Given the description of an element on the screen output the (x, y) to click on. 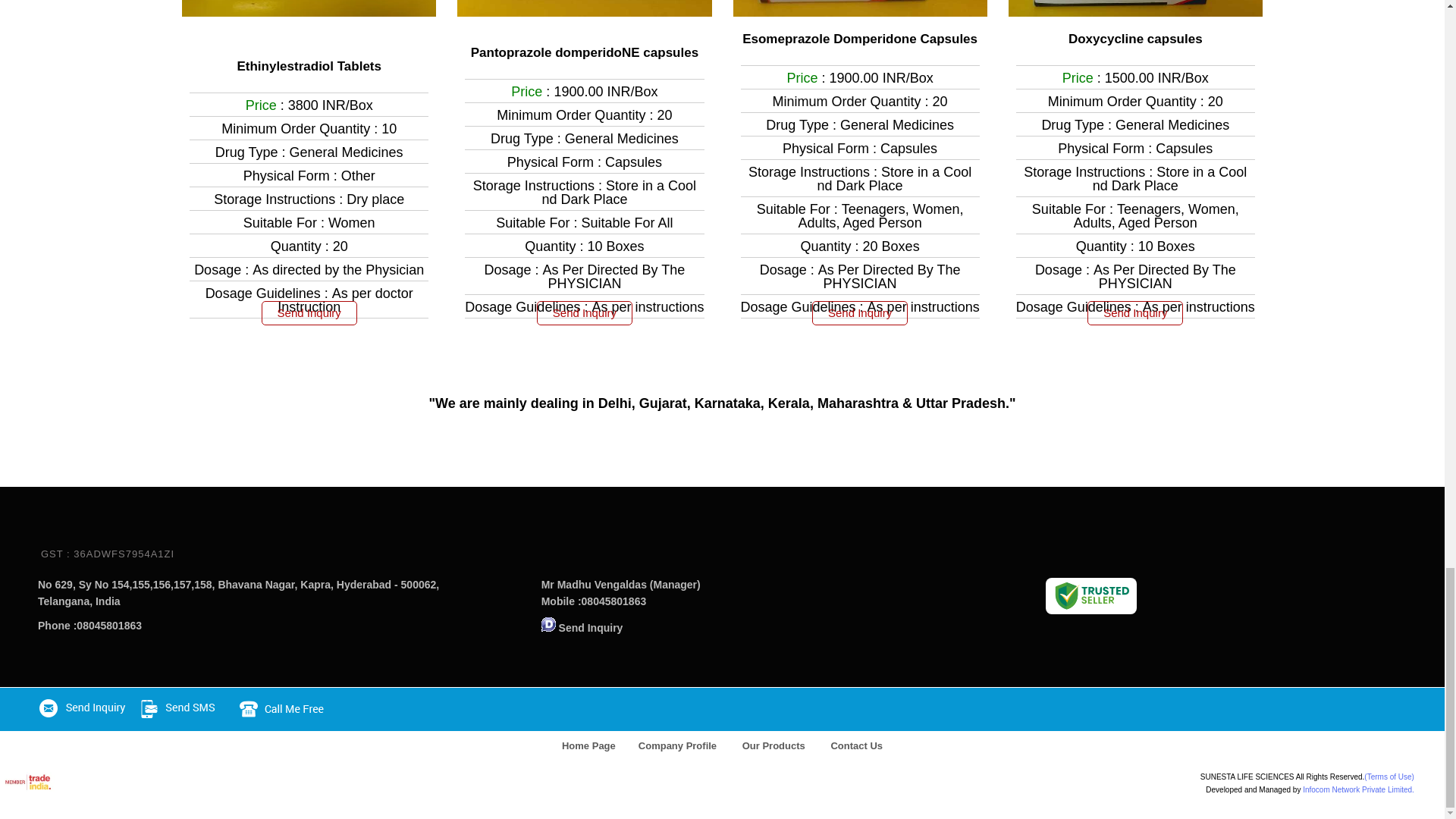
Accepts only Domestic Inquiries (548, 624)
